Given the description of an element on the screen output the (x, y) to click on. 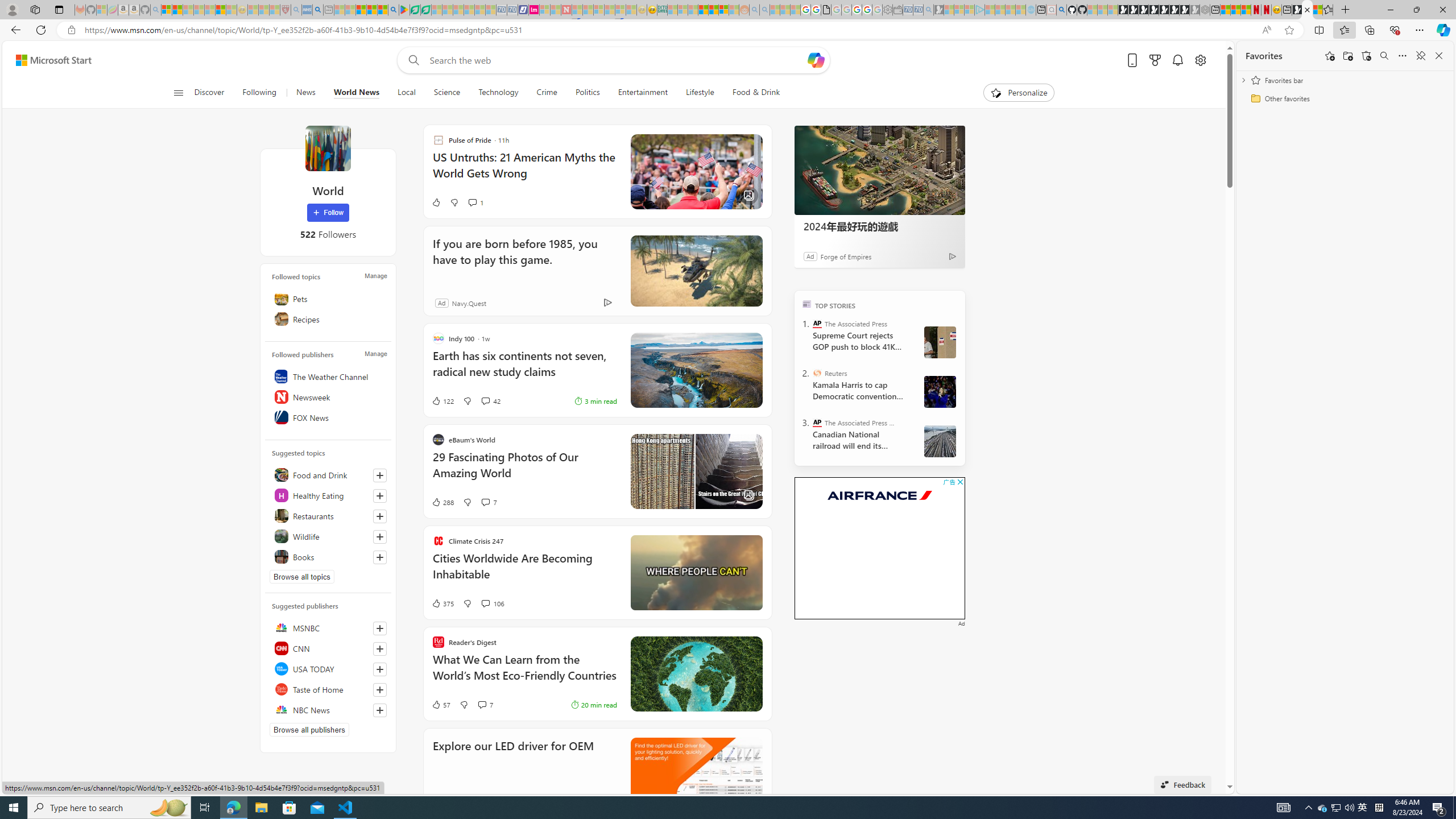
Add this page to favorites (1330, 55)
Enter your search term (617, 59)
Local (406, 92)
Kinda Frugal - MSN (713, 9)
github - Search (1061, 9)
Microsoft rewards (1154, 60)
Follow this topic (379, 557)
AutomationID: cbb (959, 481)
 Harris and Walz campaign in Wisconsin (940, 391)
